Given the description of an element on the screen output the (x, y) to click on. 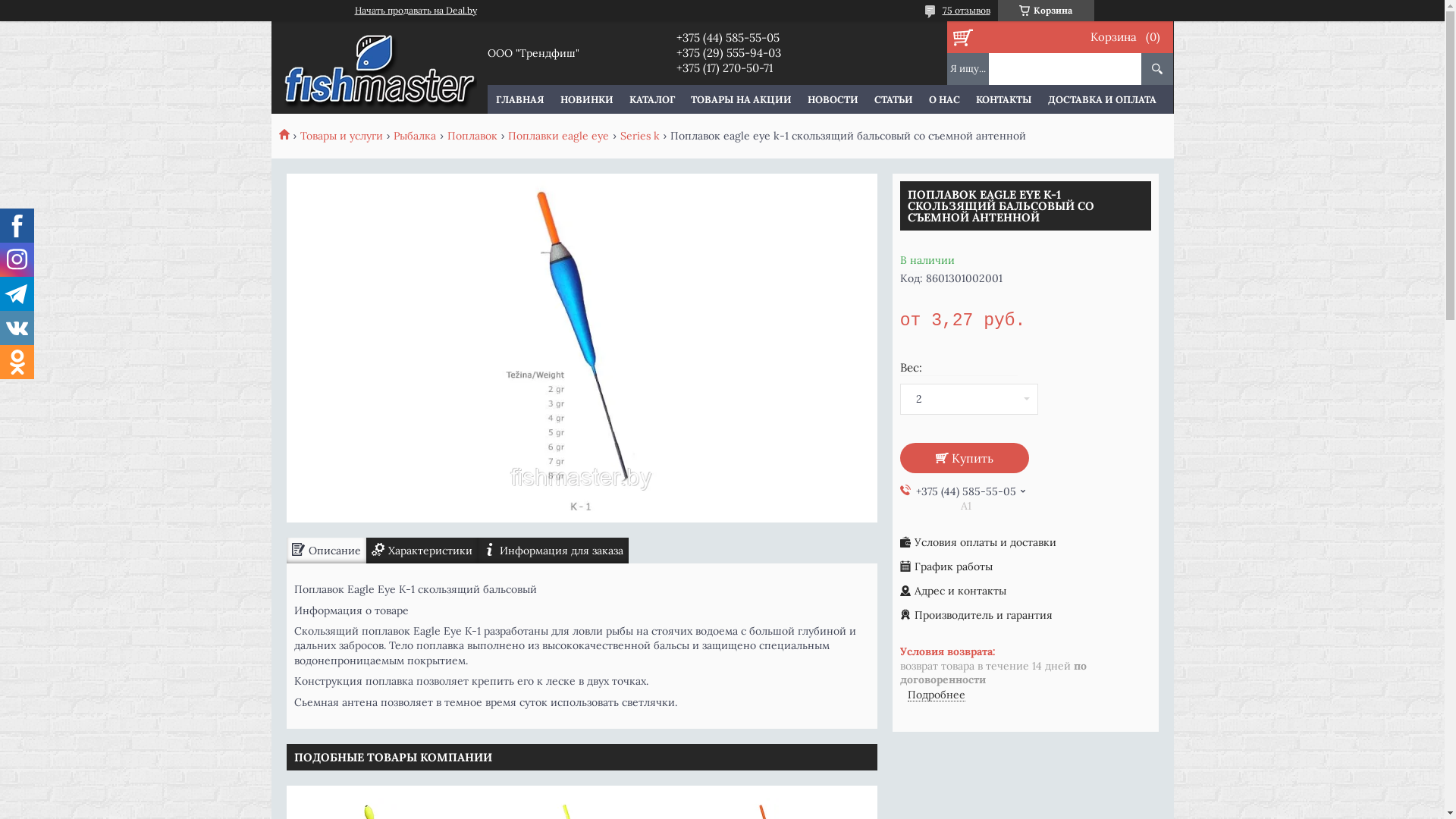
Series k Element type: text (639, 135)
